Given the description of an element on the screen output the (x, y) to click on. 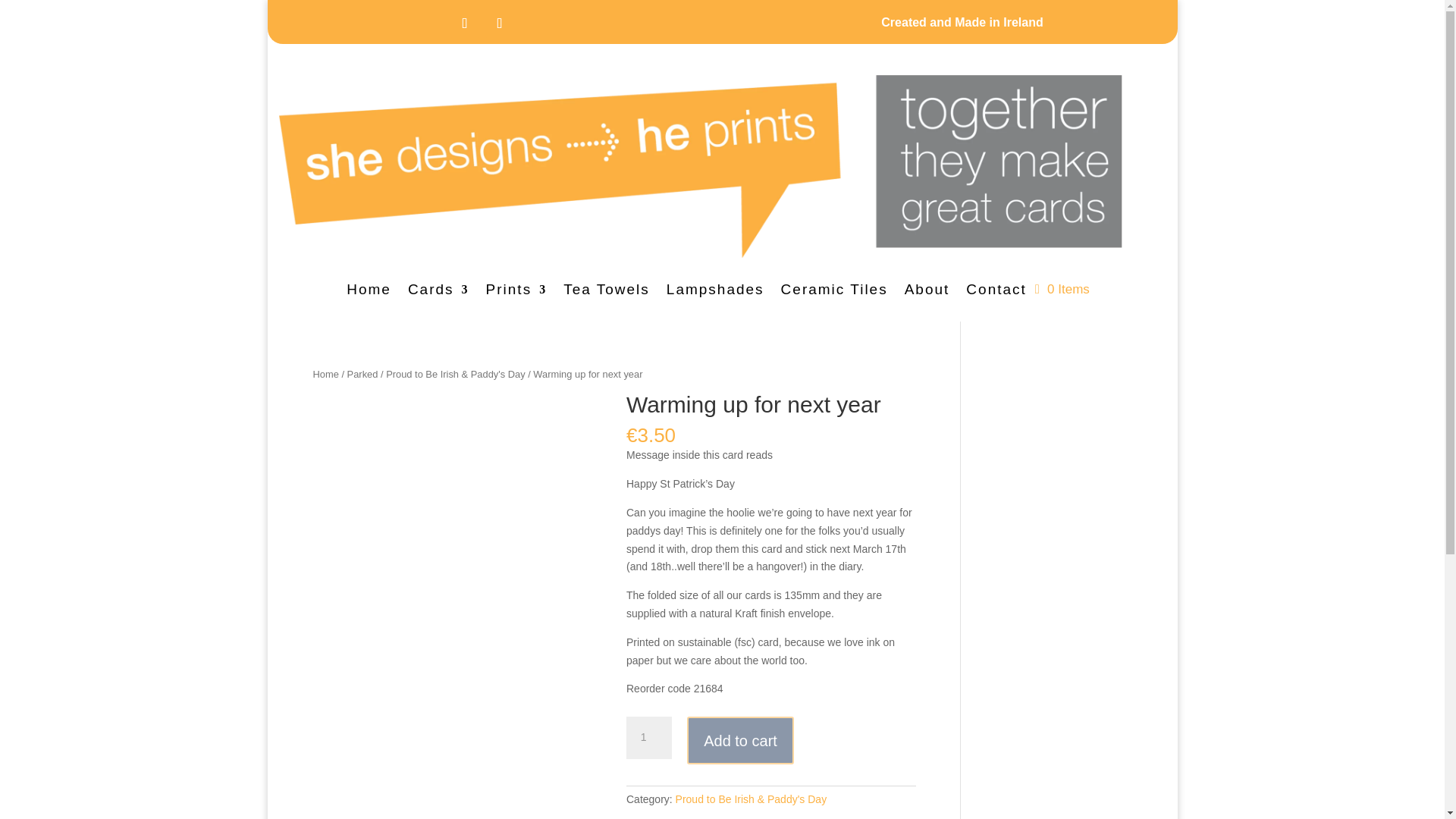
Lampshades (715, 292)
Tea Towels (606, 292)
Ceramic Tiles (834, 292)
Parked (362, 374)
Contact (996, 292)
About (927, 292)
Cards (437, 292)
Add to cart (740, 740)
Follow on Instagram (464, 23)
Home (368, 292)
Follow on Facebook (498, 23)
1 (648, 737)
Home (325, 374)
Prints (516, 292)
